Given the description of an element on the screen output the (x, y) to click on. 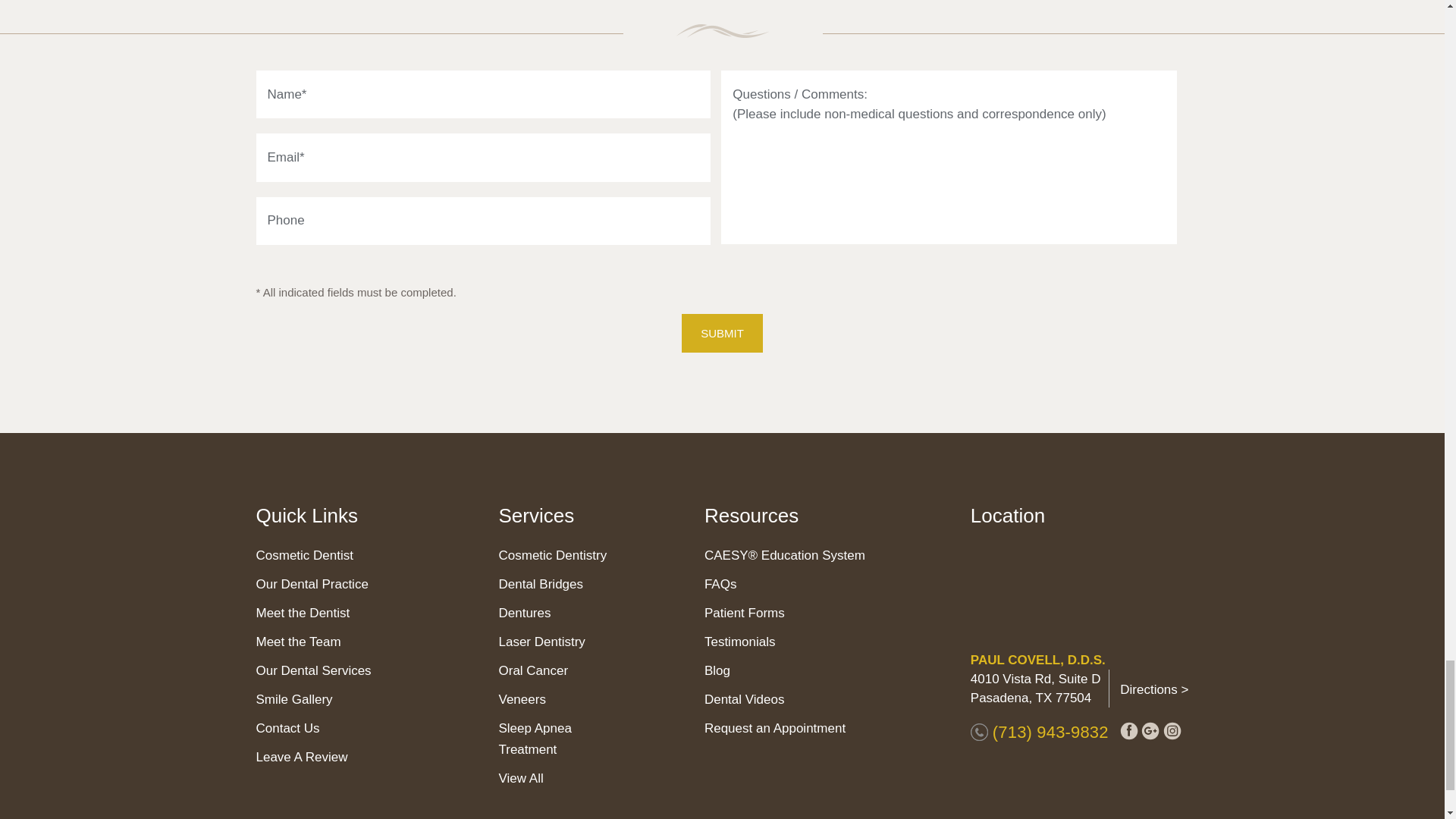
Submit (721, 332)
